Given the description of an element on the screen output the (x, y) to click on. 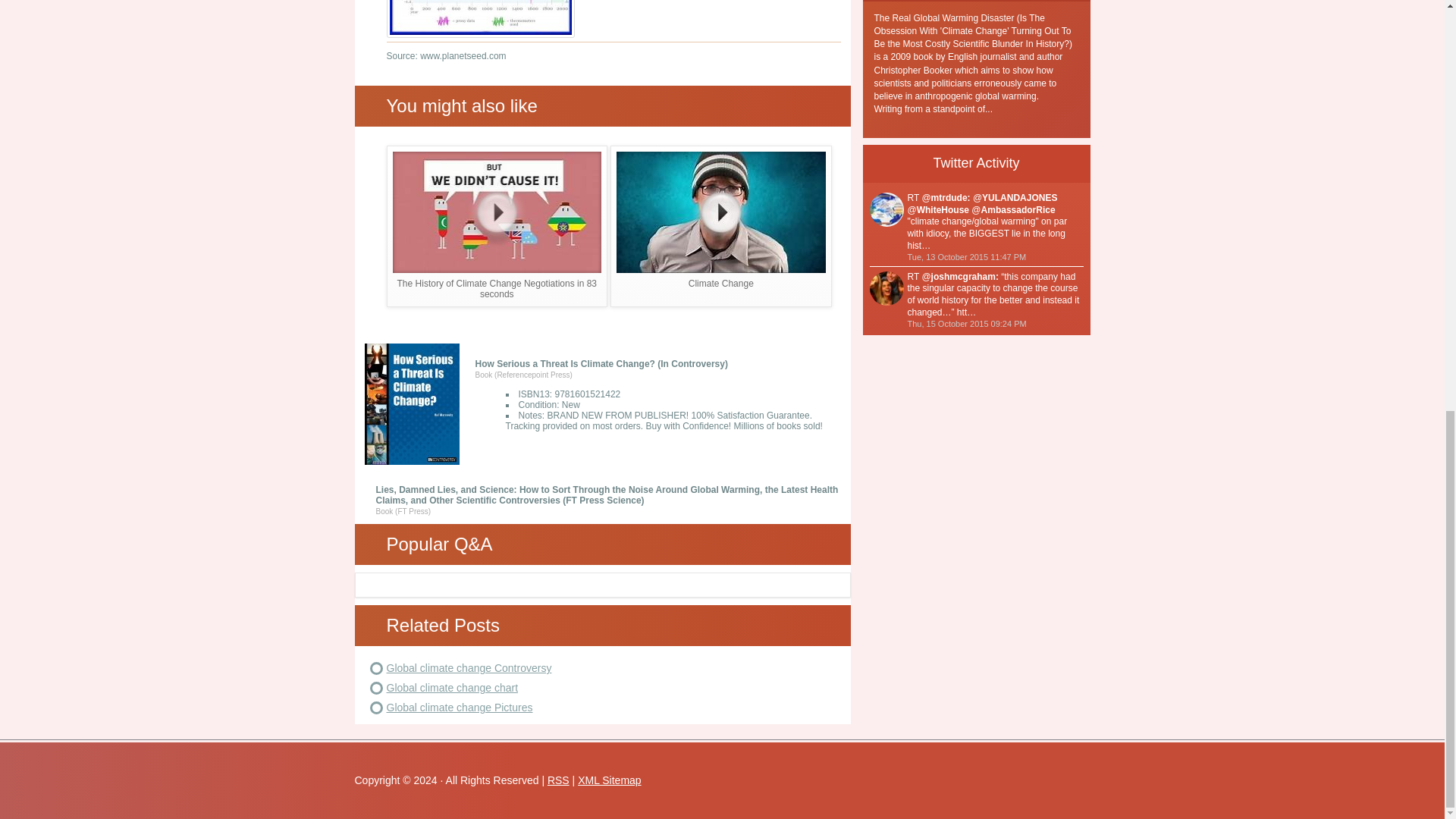
View this video from YouTube (497, 226)
Global climate change chart (452, 687)
RSS (558, 779)
Global climate change Controversy (469, 667)
XML Sitemap (610, 779)
View this video from YouTube (720, 226)
Global climate change Pictures (459, 707)
